Given the description of an element on the screen output the (x, y) to click on. 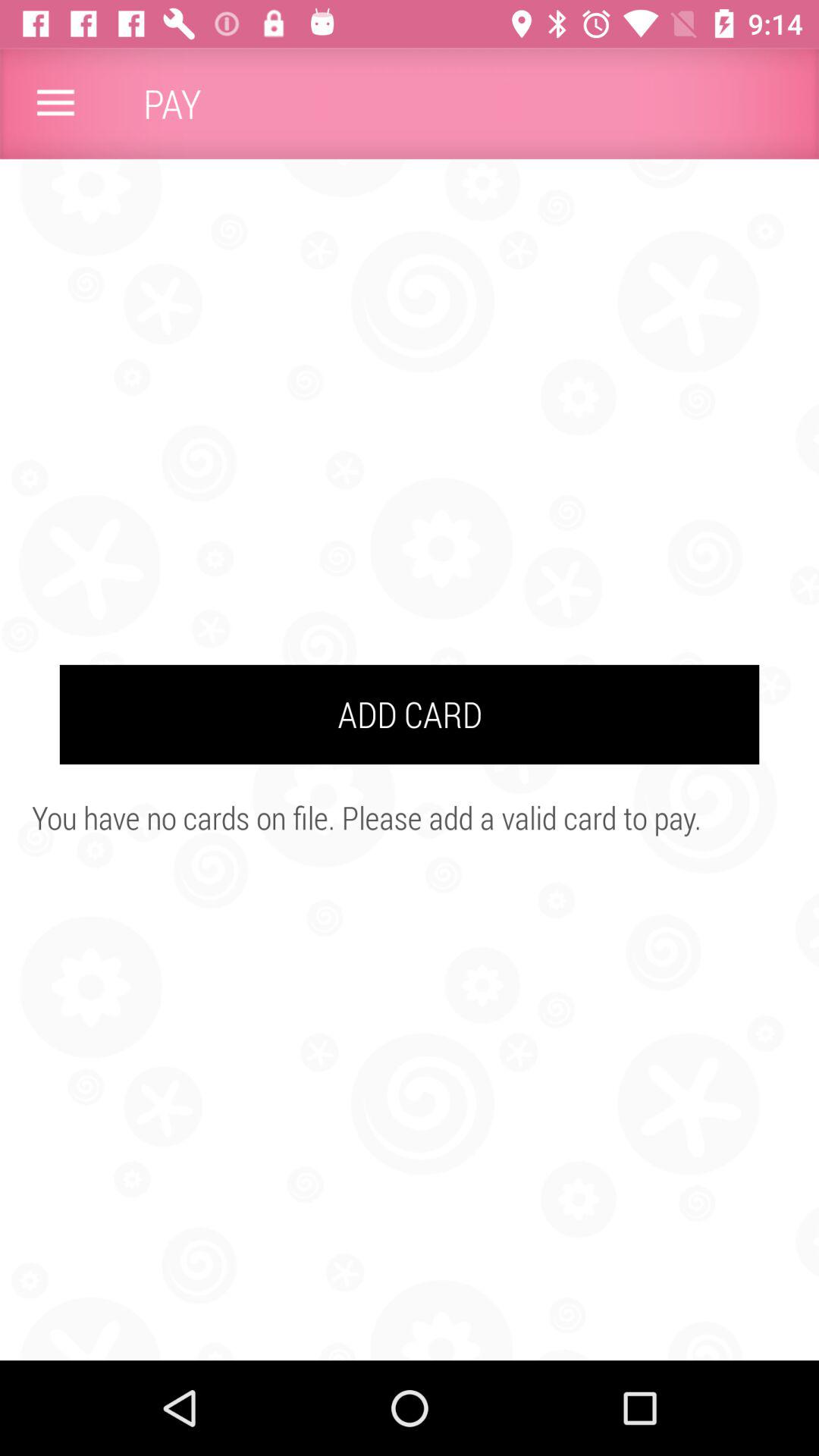
turn on the icon above the add card icon (55, 103)
